Given the description of an element on the screen output the (x, y) to click on. 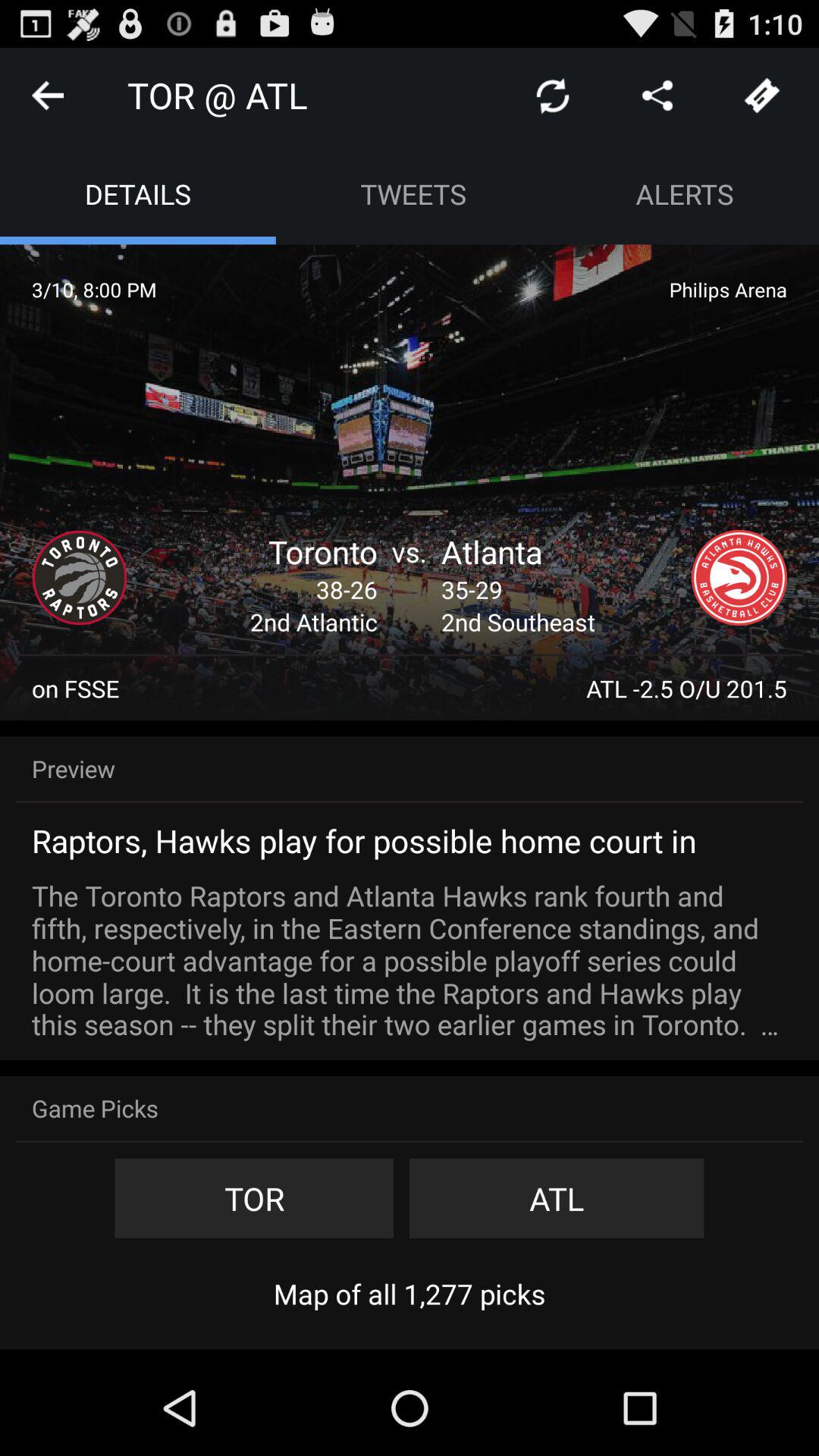
tickets (762, 95)
